Given the description of an element on the screen output the (x, y) to click on. 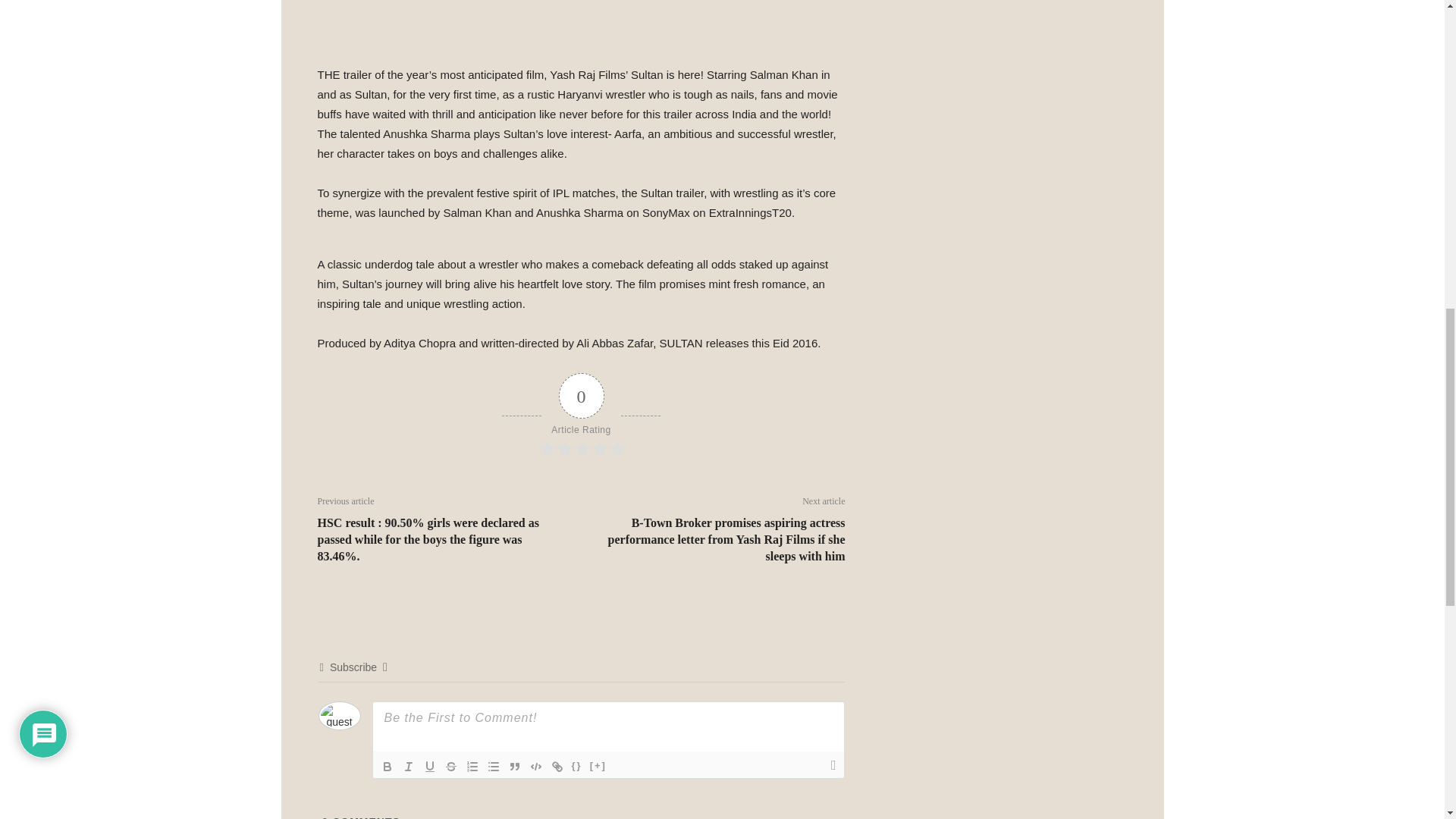
Bold (386, 765)
Italic (408, 765)
Strike (450, 765)
Underline (429, 765)
